Given the description of an element on the screen output the (x, y) to click on. 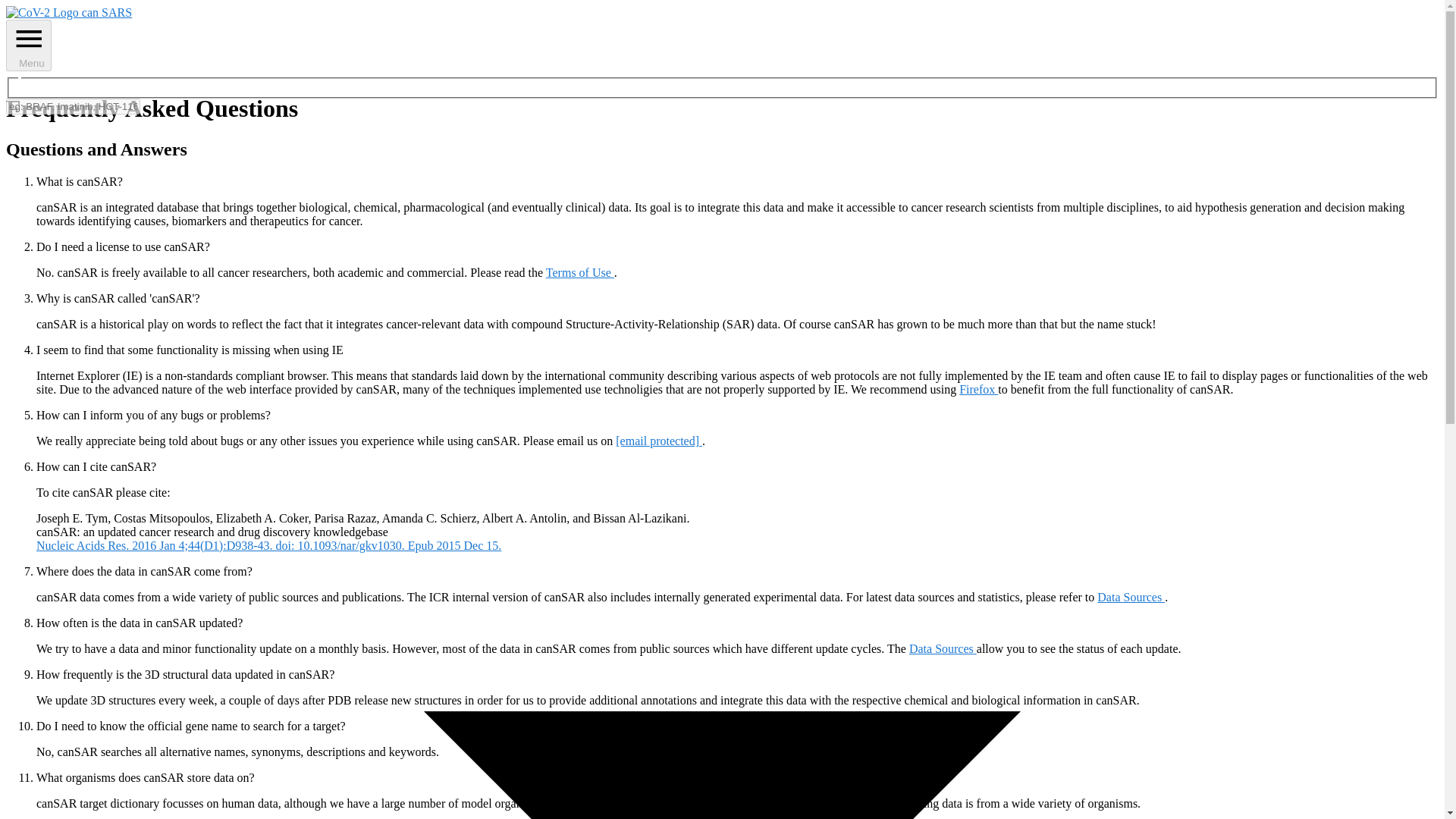
Firefox info (978, 389)
Terms of use (580, 272)
Data Sources (942, 648)
Homepage (68, 11)
can SARS (68, 11)
Data Sources (1130, 596)
Firefox (978, 389)
Terms of Use (580, 272)
More info - exernal (268, 545)
Data Sources (1130, 596)
